Given the description of an element on the screen output the (x, y) to click on. 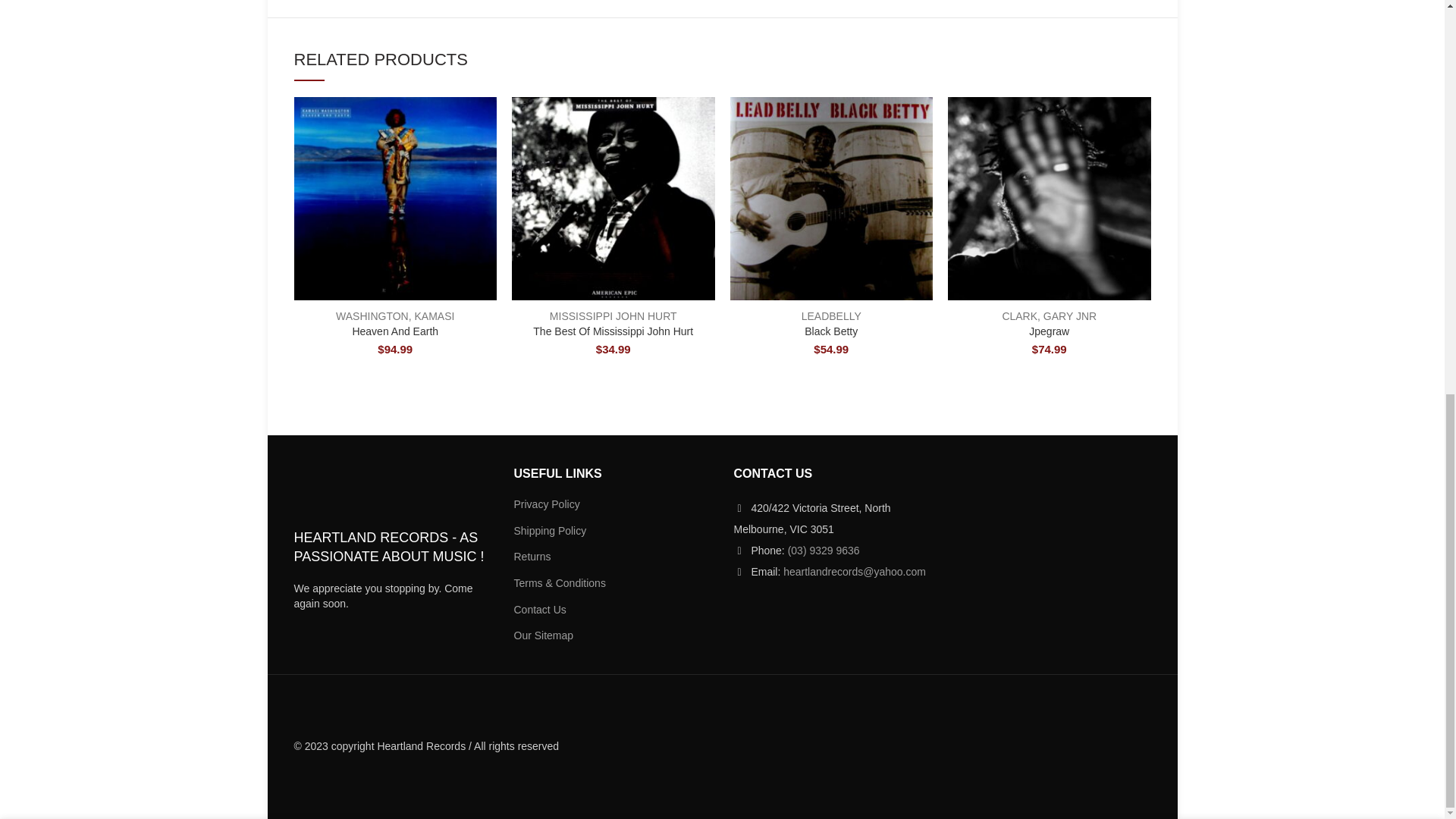
HEARTLAND RECORDS (372, 489)
payments (1037, 746)
